Given the description of an element on the screen output the (x, y) to click on. 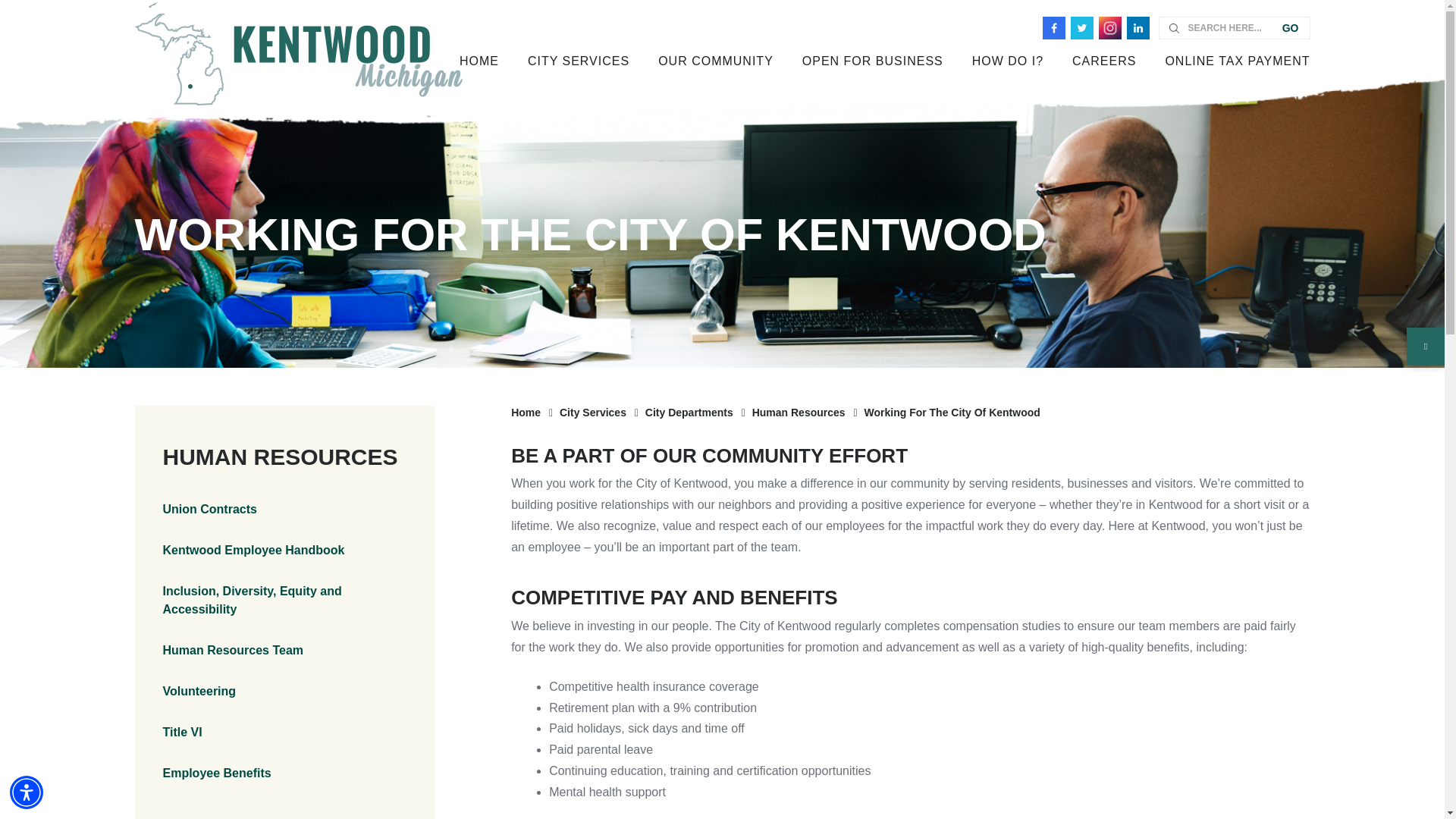
GO (1292, 27)
Accessibility Menu (26, 792)
HOW DO I? (1008, 57)
CAREERS (1104, 57)
OUR COMMUNITY (715, 57)
CITY SERVICES (578, 57)
HOME (479, 57)
Union Contracts (284, 508)
OPEN FOR BUSINESS (872, 57)
ONLINE TAX PAYMENT (1229, 57)
